Given the description of an element on the screen output the (x, y) to click on. 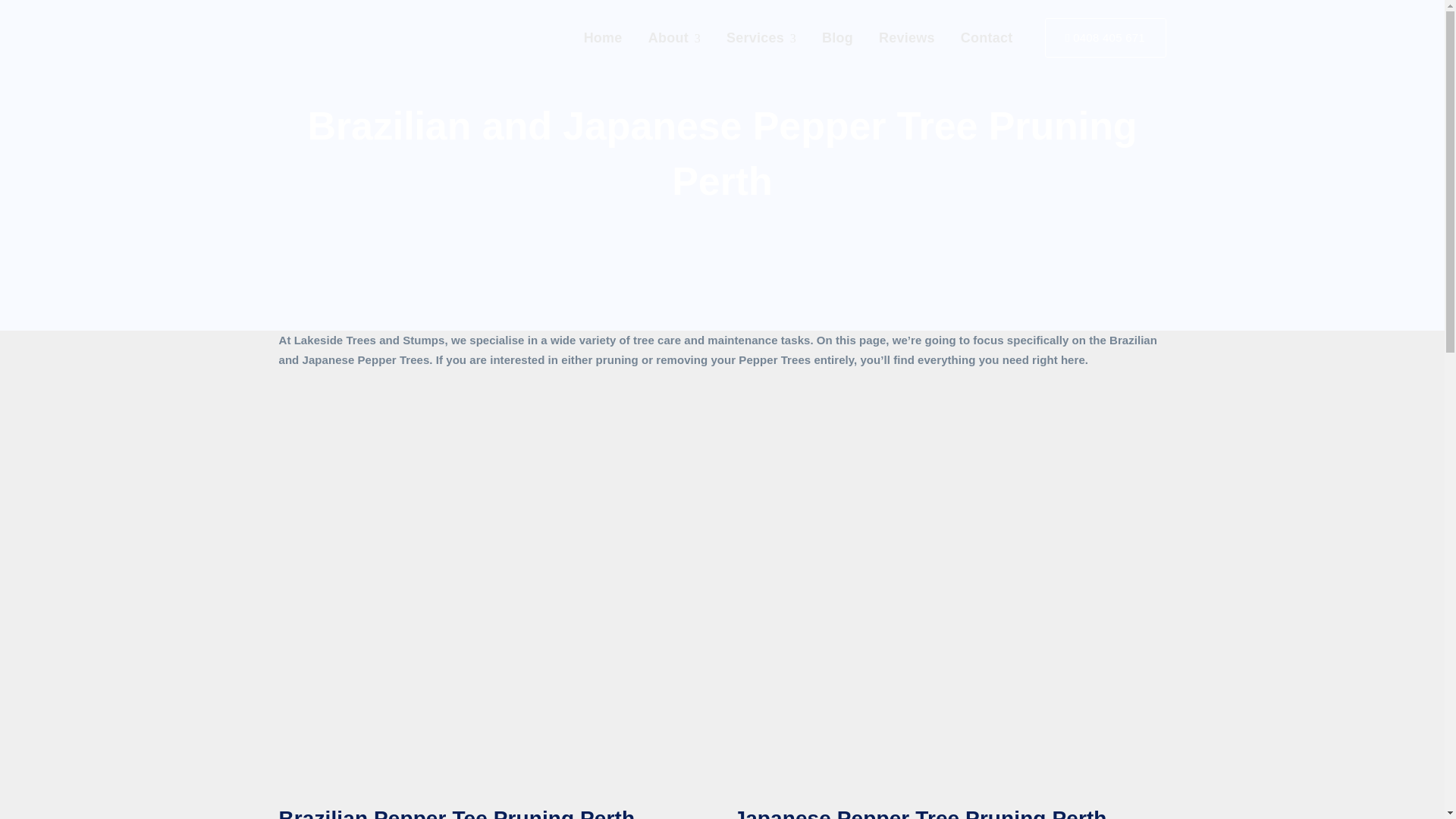
Services (761, 38)
Lakeside Trees and Stumps (375, 48)
 0408 405 671 (1105, 37)
